Given the description of an element on the screen output the (x, y) to click on. 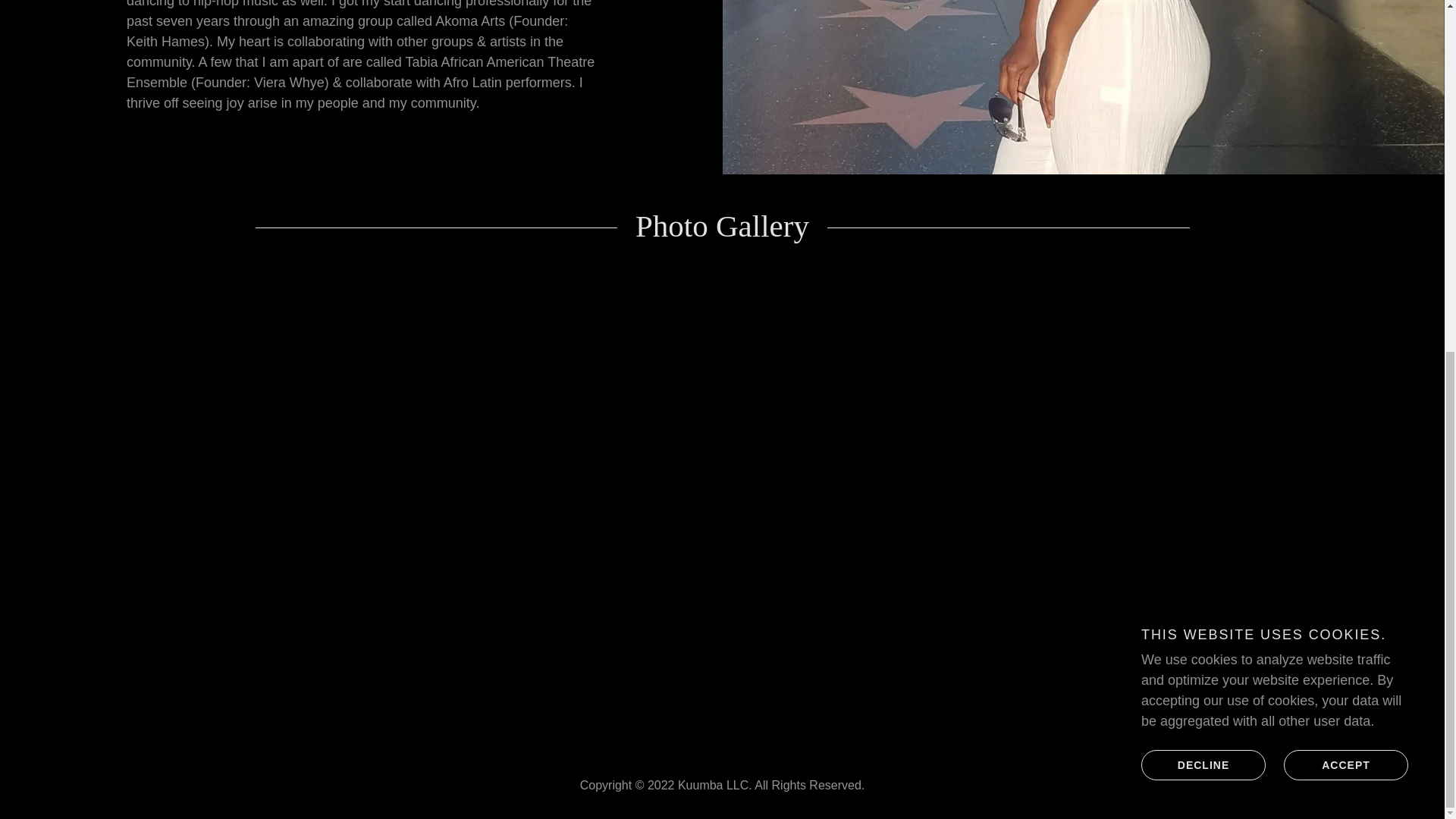
DECLINE (1203, 153)
ACCEPT (1345, 153)
